Given the description of an element on the screen output the (x, y) to click on. 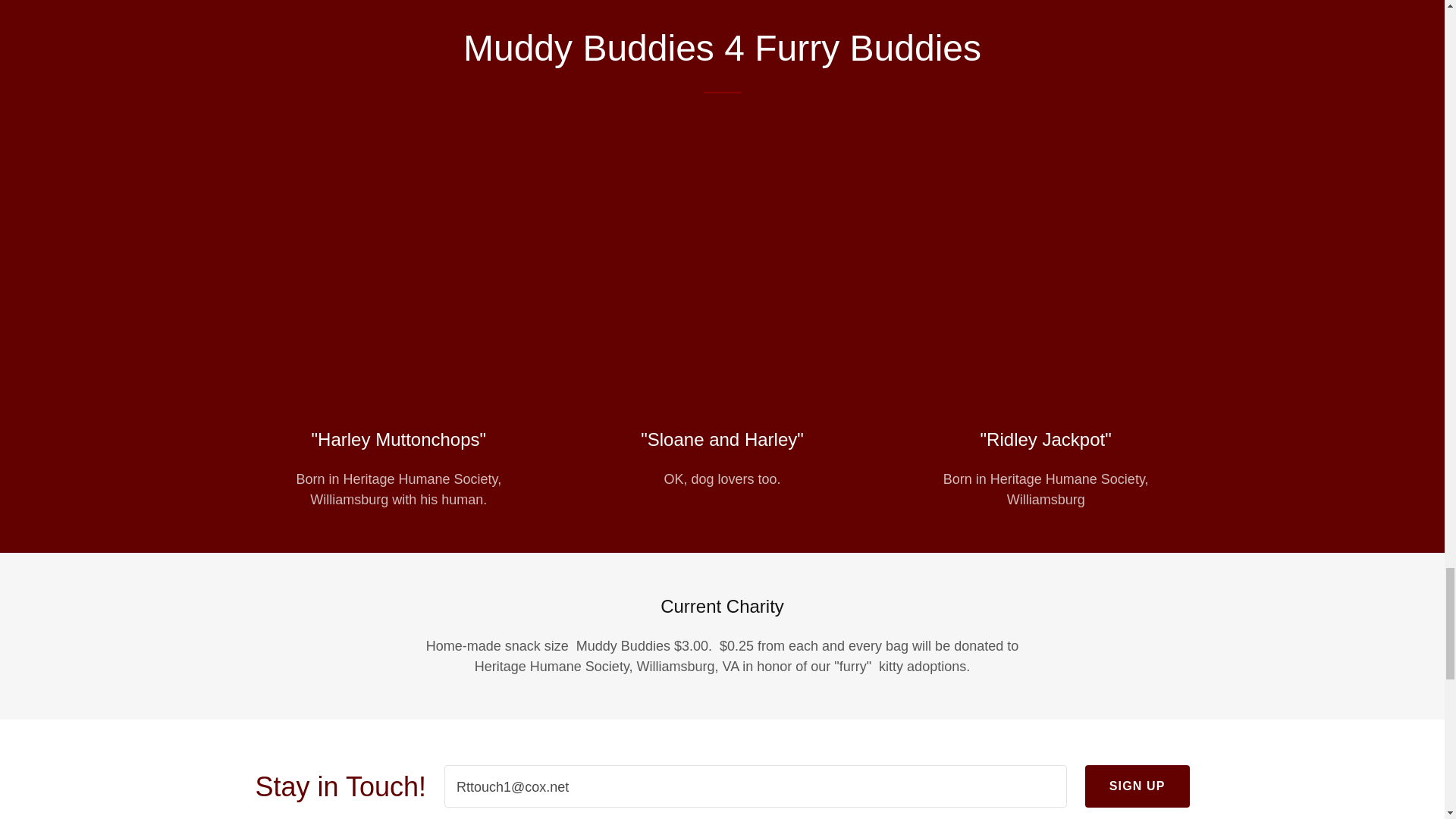
SIGN UP (1136, 785)
